Given the description of an element on the screen output the (x, y) to click on. 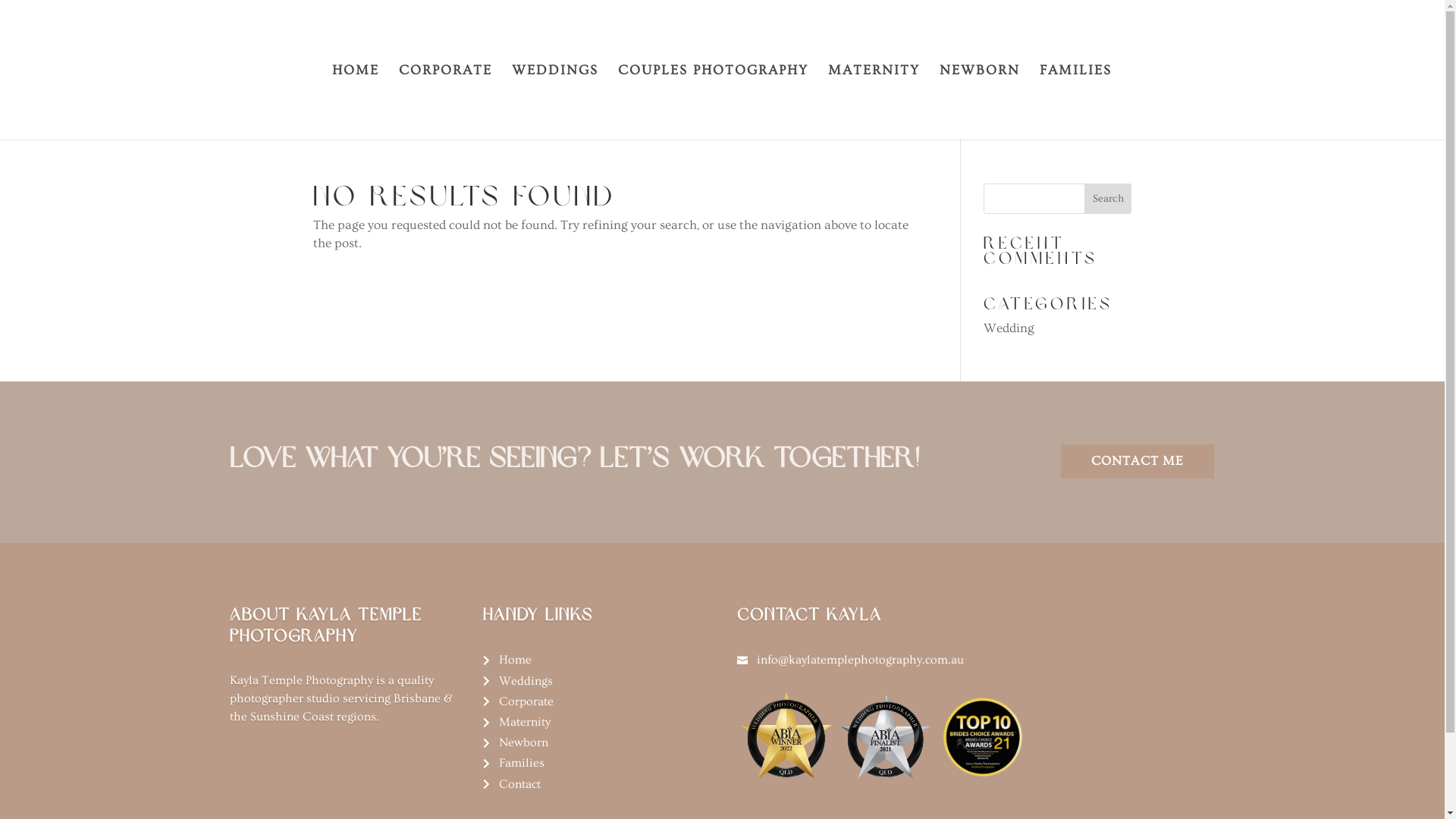
CORPORATE Element type: text (445, 102)
FAMILIES Element type: text (1074, 102)
MATERNITY Element type: text (873, 102)
uploads_logos_2111100434172-300x296 Element type: hover (983, 735)
NEWBORN Element type: text (978, 102)
ABIA WINNER Element type: hover (786, 734)
COUPLES PHOTOGRAPHY Element type: text (712, 102)
CONTACT ME Element type: text (1136, 461)
Wedding Element type: text (1008, 327)
_uploads_logos_2111100434172 Element type: hover (884, 735)
WEDDINGS Element type: text (554, 102)
Search Element type: text (1108, 198)
HOME Element type: text (355, 102)
